Given the description of an element on the screen output the (x, y) to click on. 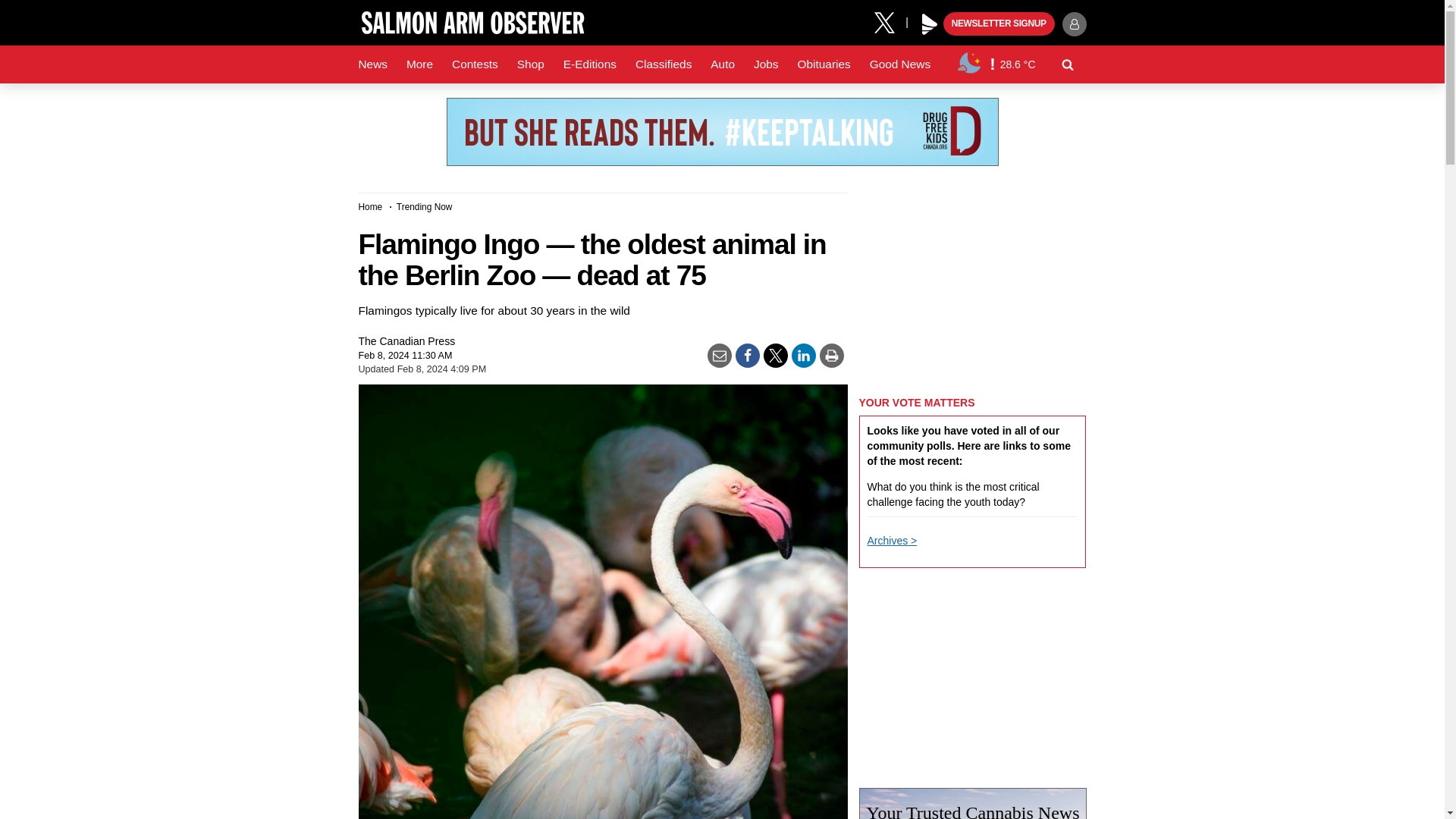
3rd party ad content (721, 131)
X (889, 21)
NEWSLETTER SIGNUP (998, 24)
Black Press Media (929, 24)
News (372, 64)
Play (929, 24)
